Given the description of an element on the screen output the (x, y) to click on. 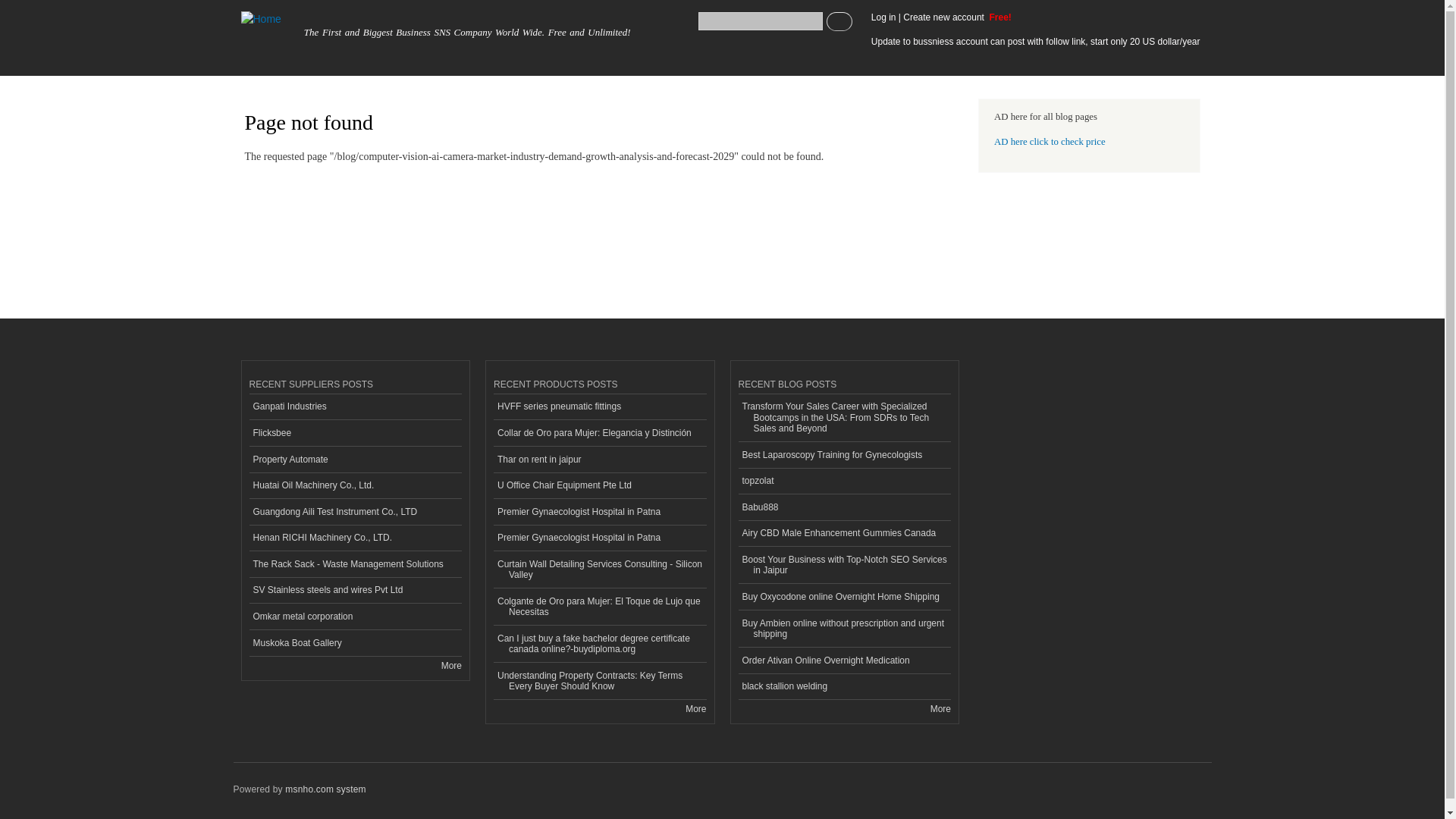
Guangdong Aili Test Instrument Co., LTD (354, 511)
topzolat (845, 481)
Read the latest products entries. (695, 708)
Ganpati Industries (354, 406)
Premier Gynaecologist Hospital in Patna (599, 511)
SV Stainless steels and wires Pvt Ltd (354, 591)
Muskoka Boat Gallery (354, 642)
Home (262, 19)
